Given the description of an element on the screen output the (x, y) to click on. 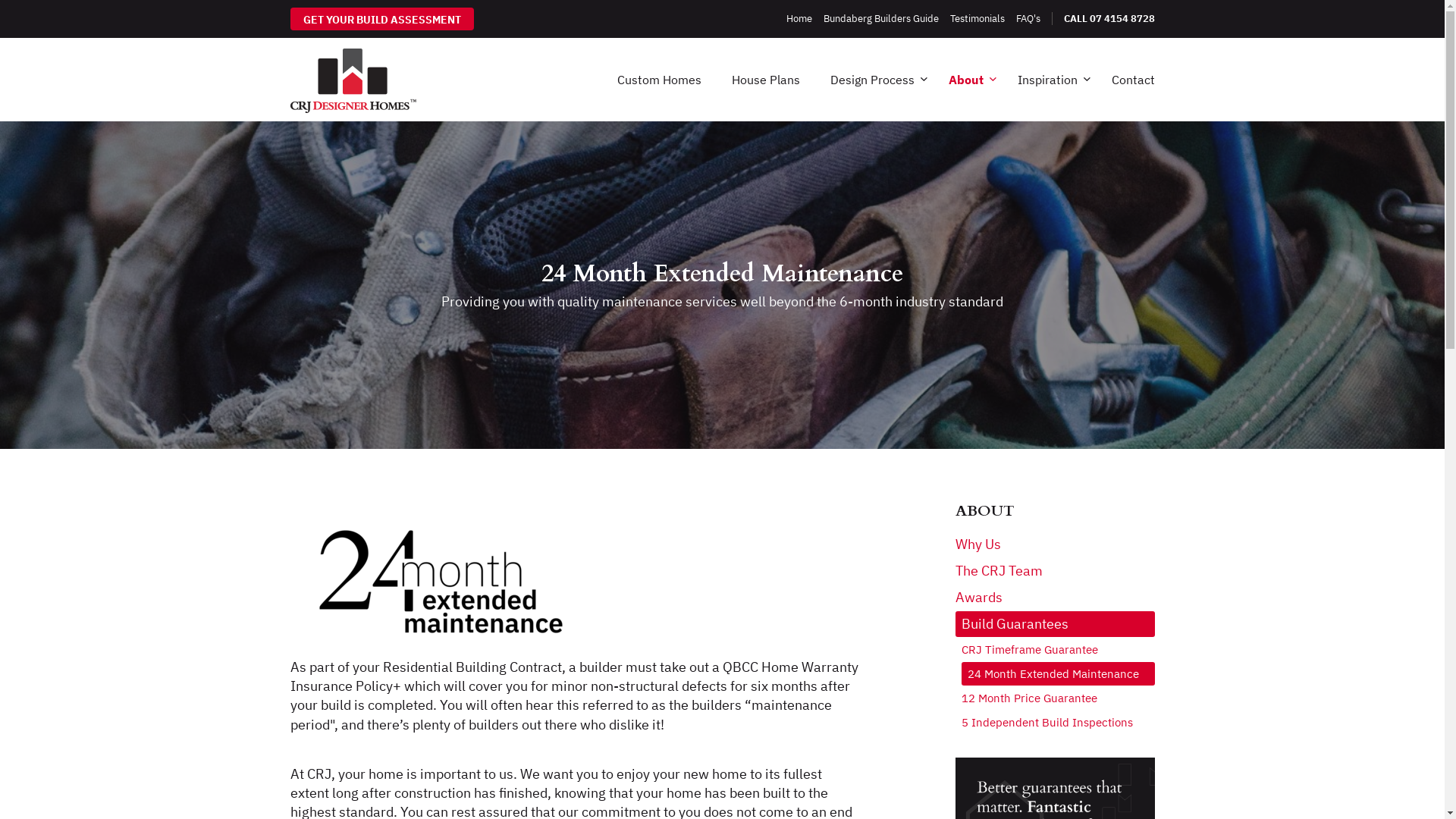
Bundaberg Builders Guide Element type: text (880, 18)
House Plans Element type: text (764, 79)
12 Month Price Guarantee Element type: text (1057, 697)
Testimonials Element type: text (976, 18)
5 Independent Build Inspections Element type: text (1057, 722)
Contact Element type: text (1125, 79)
Custom Homes Element type: text (659, 79)
Inspiration Element type: text (1049, 79)
Home Element type: text (798, 18)
CRJ Designer Homes Element type: text (352, 80)
24 Month Extended Maintenance Element type: text (1057, 673)
Awards Element type: text (1054, 597)
The CRJ Team Element type: text (1054, 570)
CALL 07 4154 8728 Element type: text (1102, 18)
About Element type: text (966, 79)
CRJ Timeframe Guarantee Element type: text (1057, 649)
Design Process Element type: text (873, 79)
Skip to the content Element type: text (721, 13)
GET YOUR BUILD ASSESSMENT Element type: text (381, 18)
FAQ's Element type: text (1028, 18)
Build Guarantees Element type: text (1054, 624)
Why Us Element type: text (1054, 544)
ABOUT Element type: text (1054, 511)
